Given the description of an element on the screen output the (x, y) to click on. 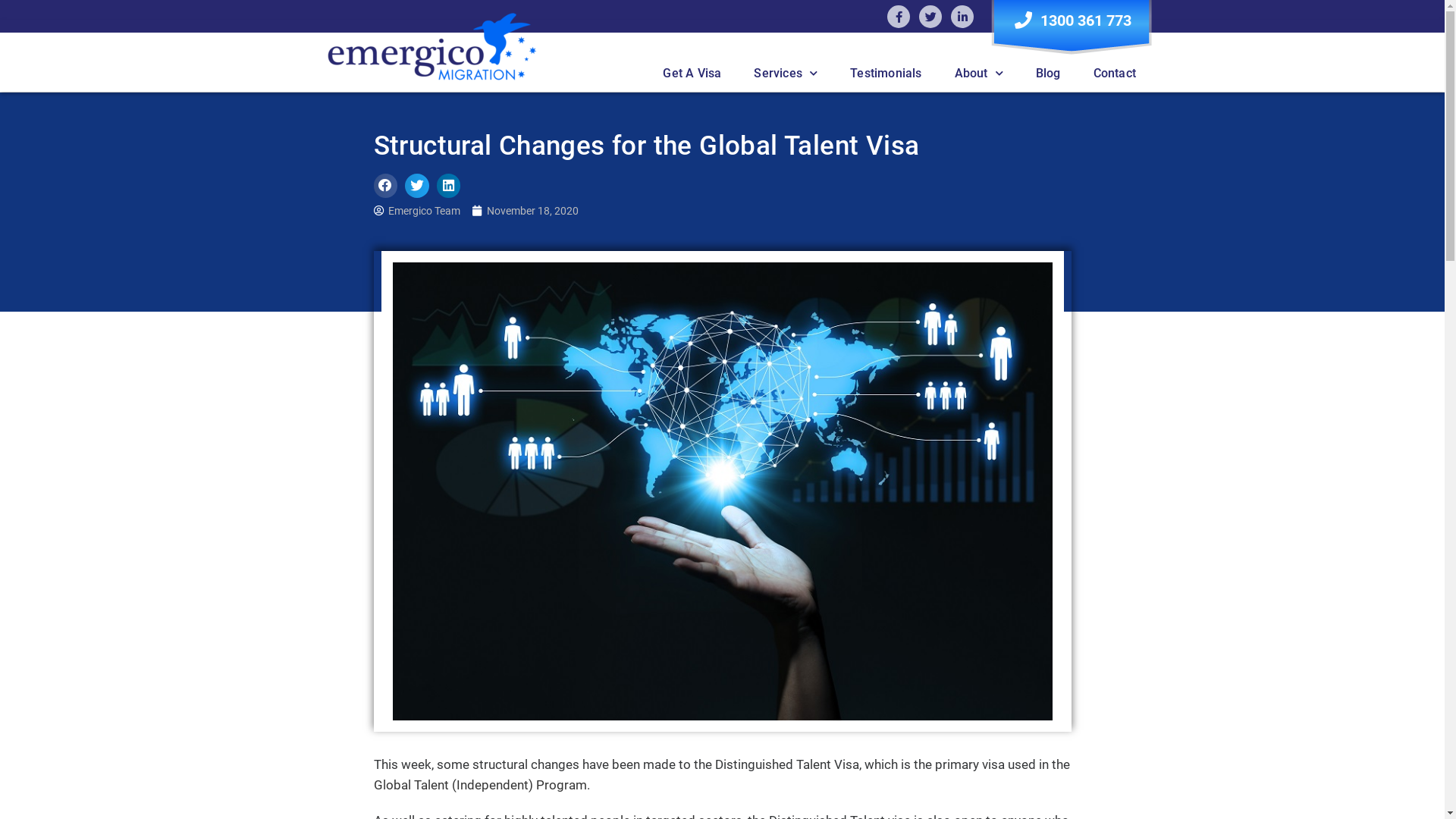
Testimonials Element type: text (885, 73)
Global Talent (Independent) Program. Element type: text (481, 784)
Services Element type: text (785, 73)
Contact Element type: text (1114, 73)
About Element type: text (978, 73)
1300 361 773 Element type: text (1071, 19)
Blog Element type: text (1048, 73)
Get A Visa Element type: text (691, 73)
